Given the description of an element on the screen output the (x, y) to click on. 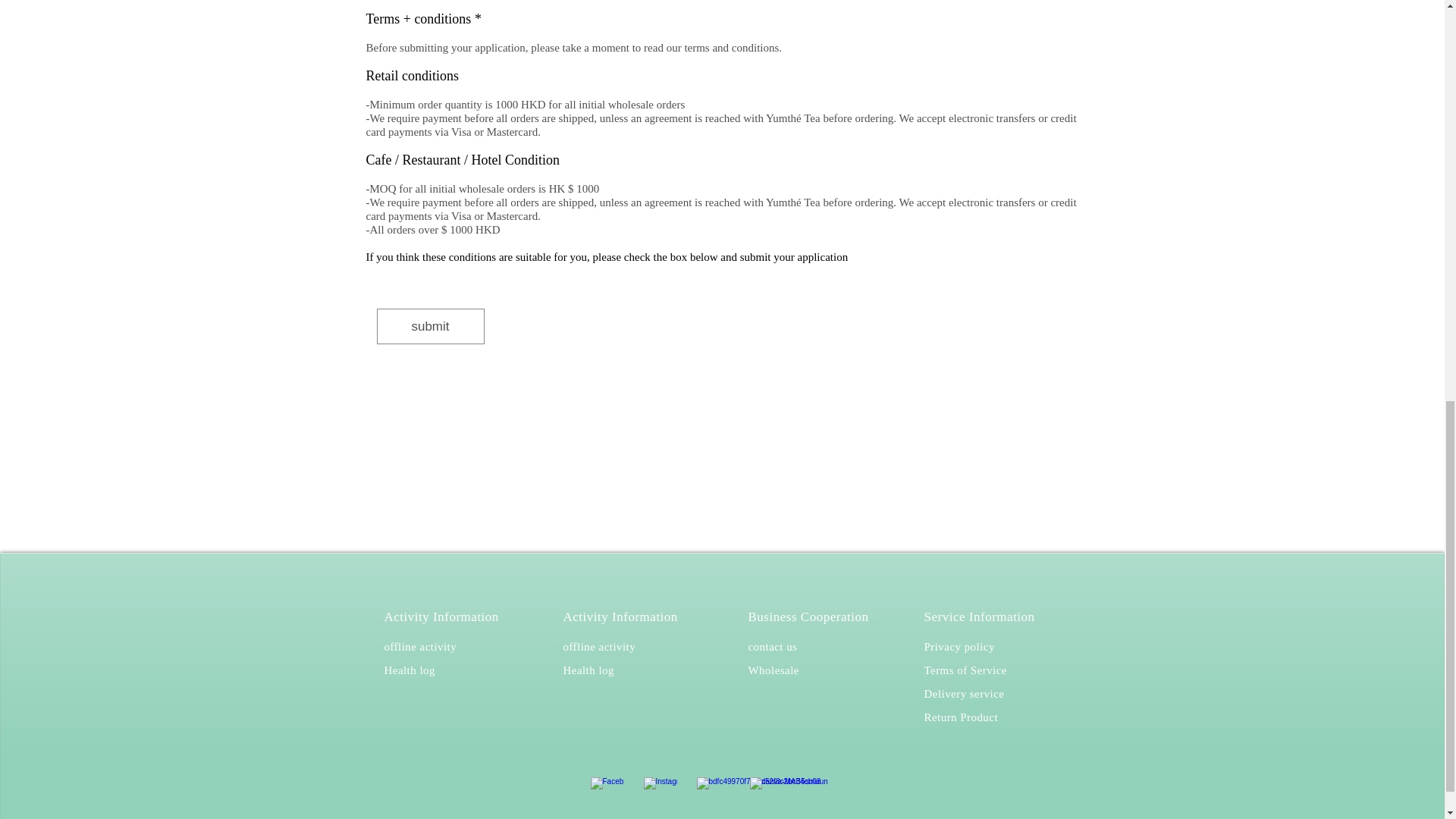
Return Product (960, 716)
Wholesale (772, 669)
submit (429, 325)
Health log (408, 669)
offline activity (598, 645)
Privacy policy (958, 645)
contact us (772, 645)
Health log (587, 669)
Delivery service (963, 693)
offline activity (420, 645)
